Given the description of an element on the screen output the (x, y) to click on. 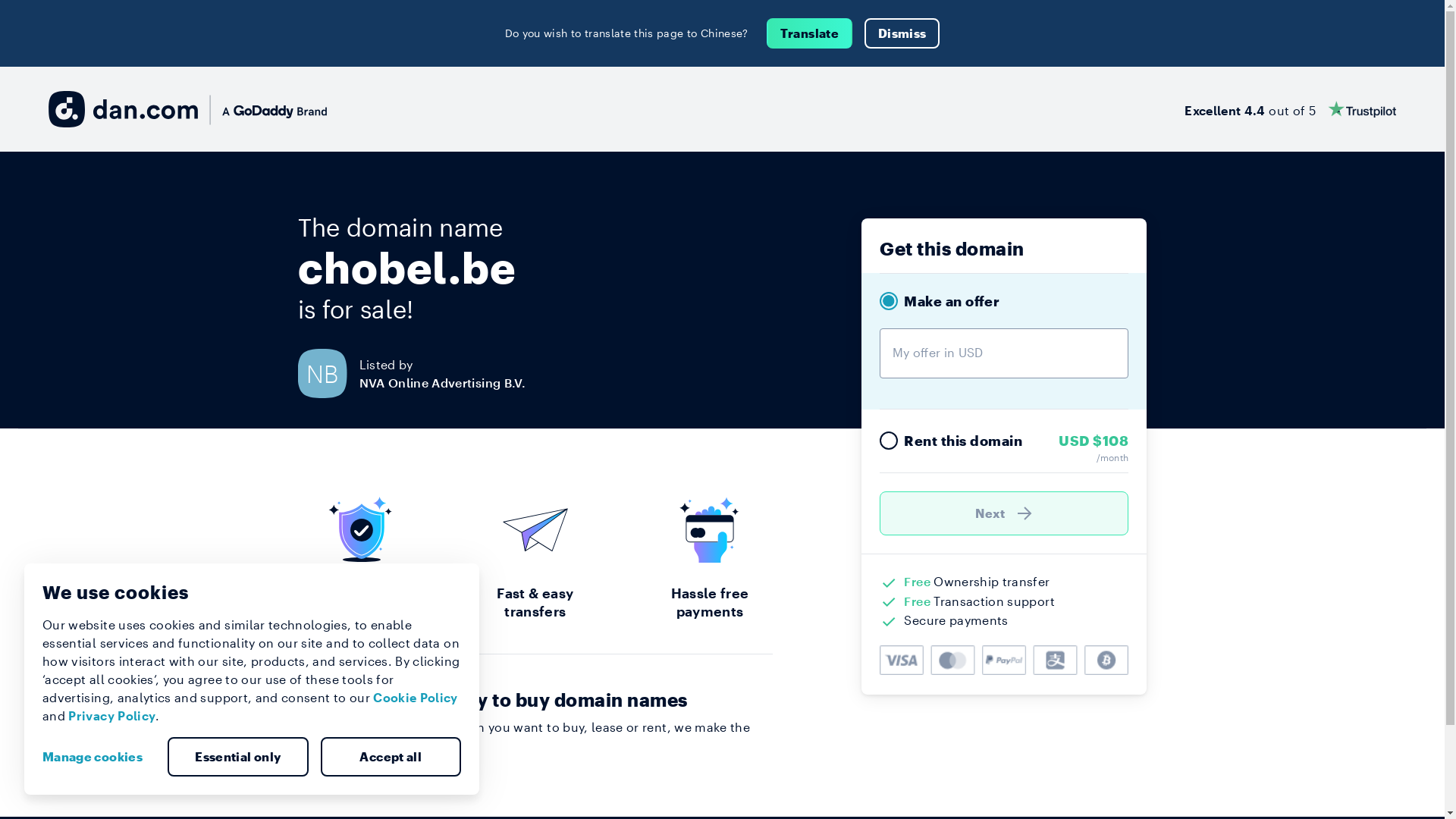
Privacy Policy Element type: text (111, 715)
Cookie Policy Element type: text (415, 697)
Dismiss Element type: text (901, 33)
Accept all Element type: text (390, 756)
Essential only Element type: text (237, 756)
Excellent 4.4 out of 5 Element type: text (1290, 109)
Manage cookies Element type: text (98, 756)
Next
) Element type: text (1003, 513)
Translate Element type: text (809, 33)
